Given the description of an element on the screen output the (x, y) to click on. 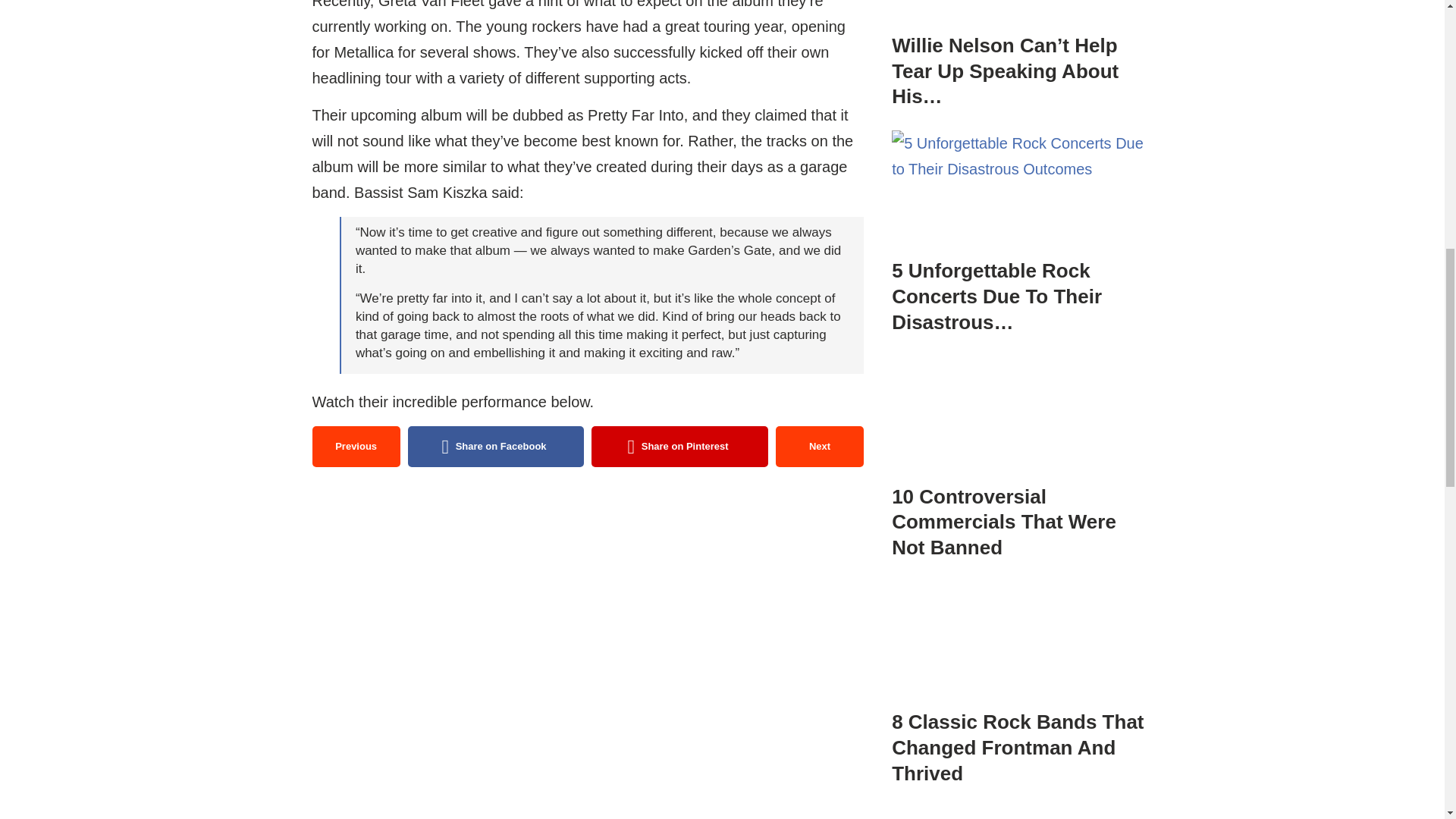
Share on Pinterest (679, 445)
